Given the description of an element on the screen output the (x, y) to click on. 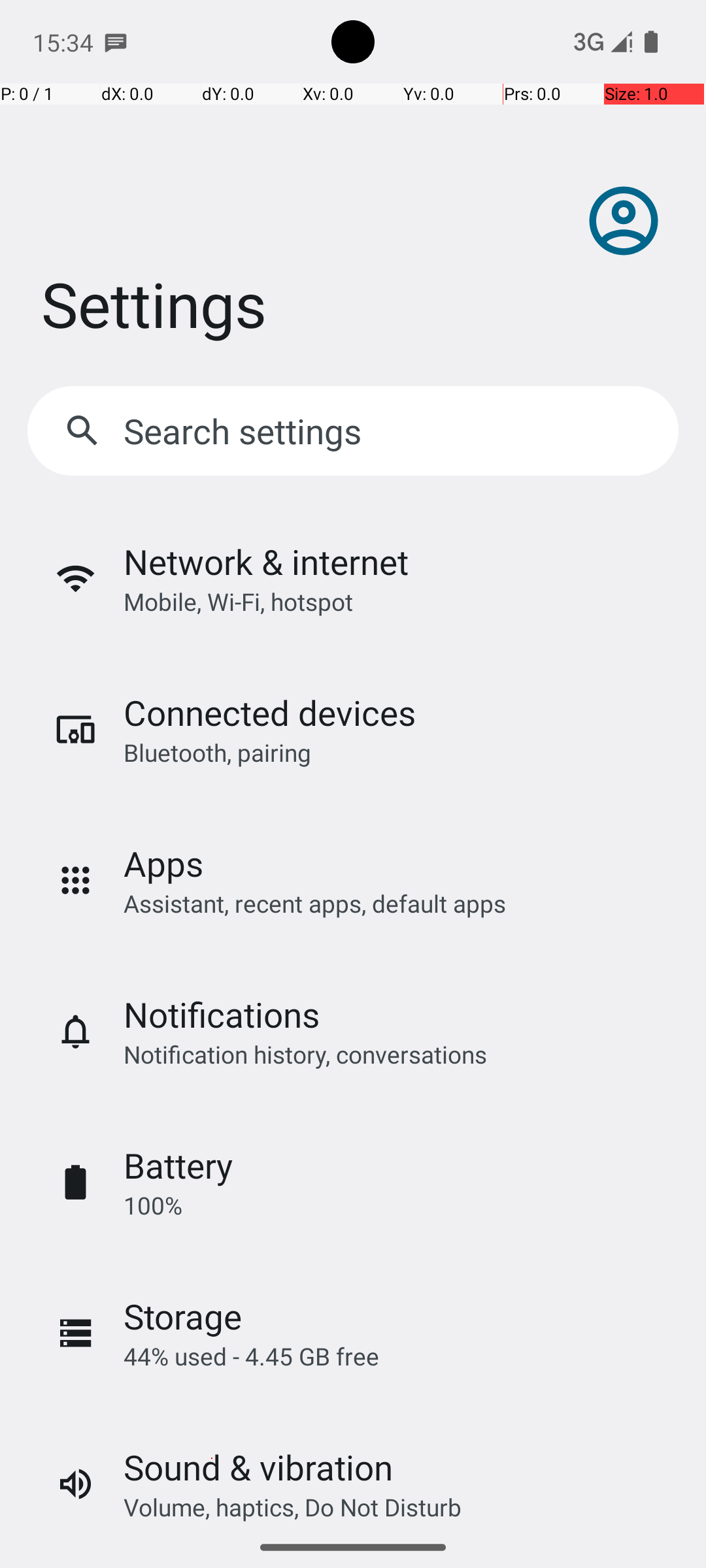
Profile picture, double tap to open Google Account Element type: android.widget.ImageView (623, 220)
Search settings Element type: android.widget.TextView (245, 430)
Mobile, Wi‑Fi, hotspot Element type: android.widget.TextView (238, 601)
Bluetooth, pairing Element type: android.widget.TextView (217, 751)
Assistant, recent apps, default apps Element type: android.widget.TextView (314, 902)
Notification history, conversations Element type: android.widget.TextView (305, 1053)
100% Element type: android.widget.TextView (152, 1204)
44% used - 4.45 GB free Element type: android.widget.TextView (251, 1355)
Volume, haptics, Do Not Disturb Element type: android.widget.TextView (292, 1506)
